Given the description of an element on the screen output the (x, y) to click on. 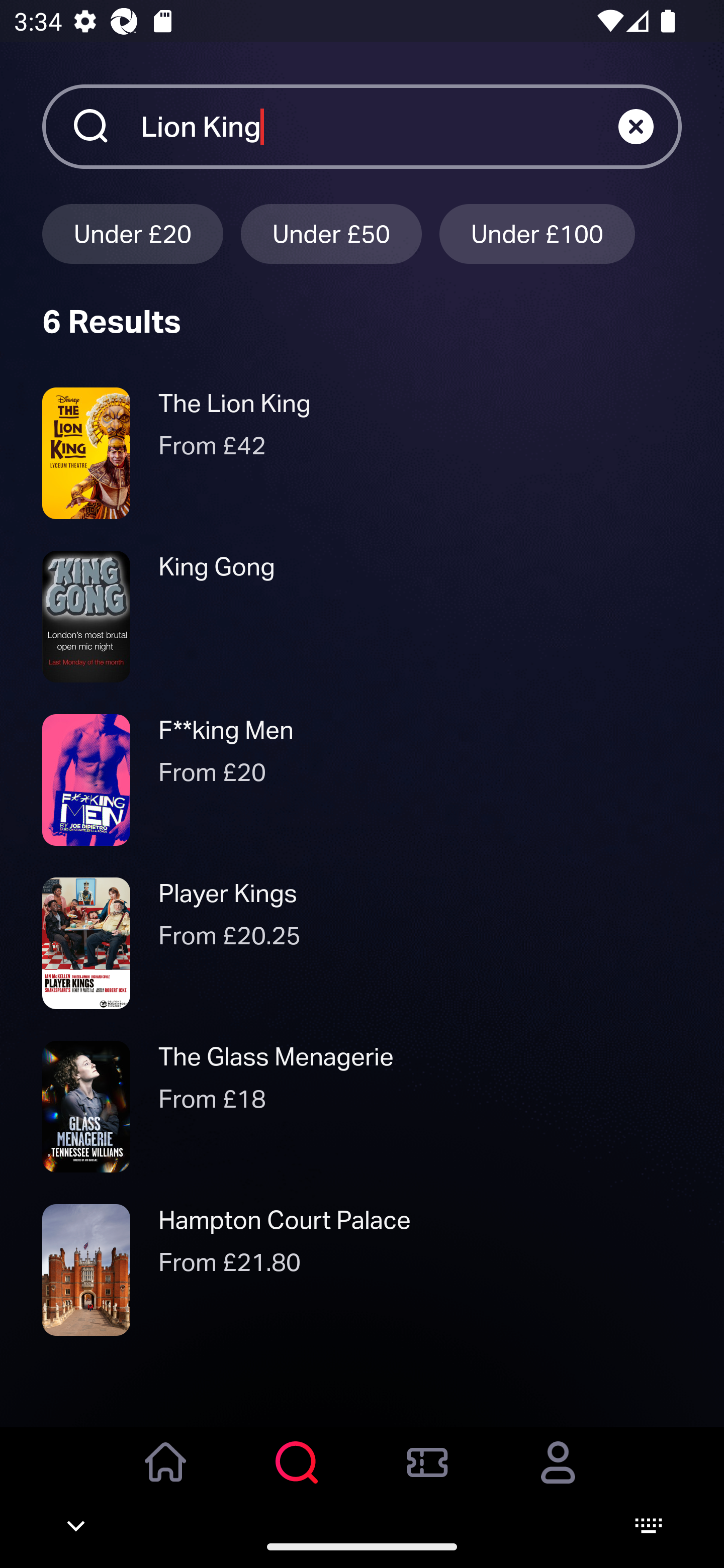
Lion King (379, 126)
Under £20 (131, 233)
Under £50 (331, 233)
Under £100 (536, 233)
The Lion King £42  The Lion King From £42 (361, 453)
King Gong  King Gong (361, 616)
F**king Men £20  F**king Men From £20 (361, 779)
Player Kings £20.25  Player Kings From £20.25 (361, 943)
Home (165, 1475)
Orders (427, 1475)
Account (558, 1475)
